Given the description of an element on the screen output the (x, y) to click on. 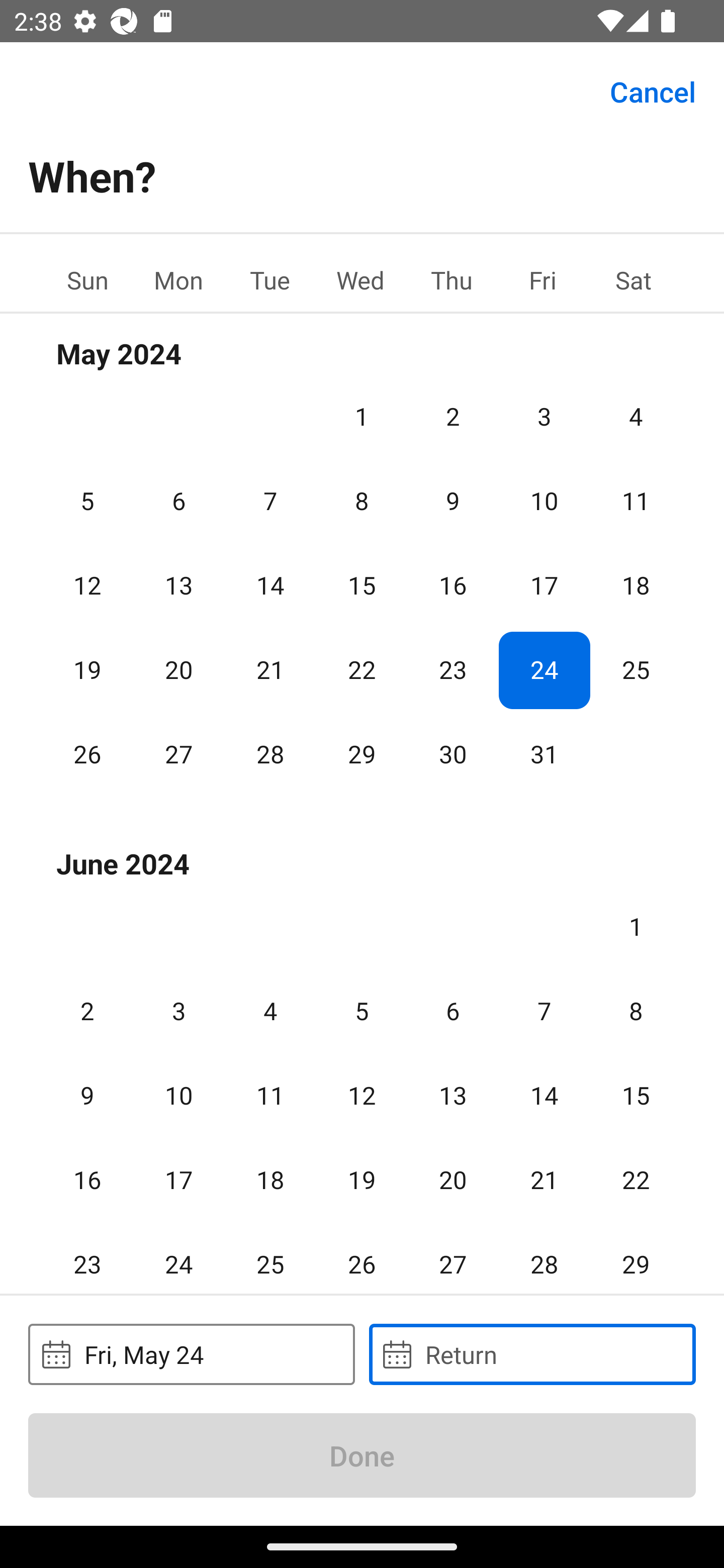
Cancel (652, 90)
Fri, May 24 (191, 1353)
Return (532, 1353)
Done (361, 1454)
